Given the description of an element on the screen output the (x, y) to click on. 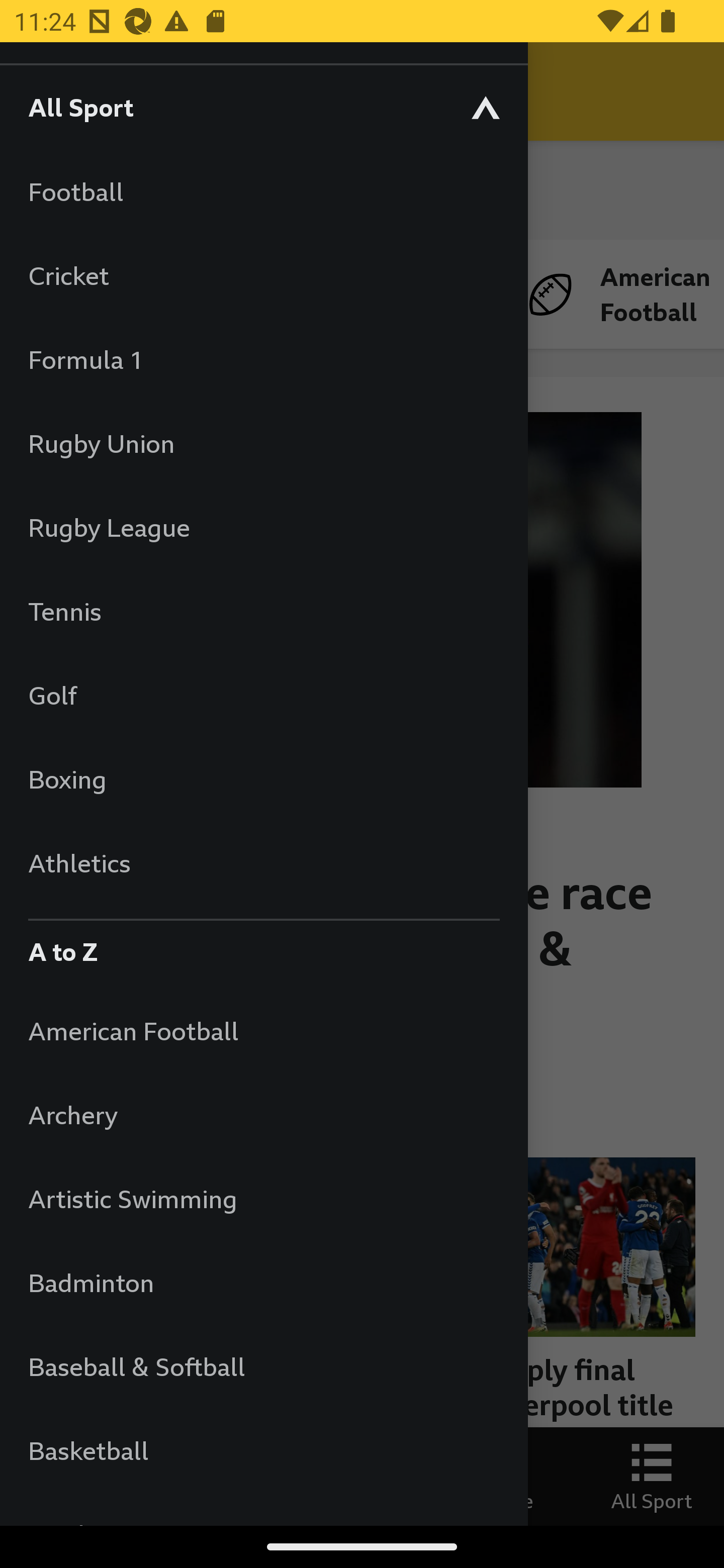
All Sport (263, 106)
Football (263, 190)
Cricket (263, 275)
Formula 1 (263, 358)
Rugby Union (263, 443)
Rugby League (263, 526)
Tennis (263, 611)
Golf (263, 694)
Boxing (263, 778)
Athletics (263, 862)
A to Z (263, 946)
American Football (263, 1029)
Archery (263, 1114)
Artistic Swimming (263, 1198)
Badminton (263, 1282)
Baseball & Softball (263, 1366)
Basketball (263, 1450)
